Given the description of an element on the screen output the (x, y) to click on. 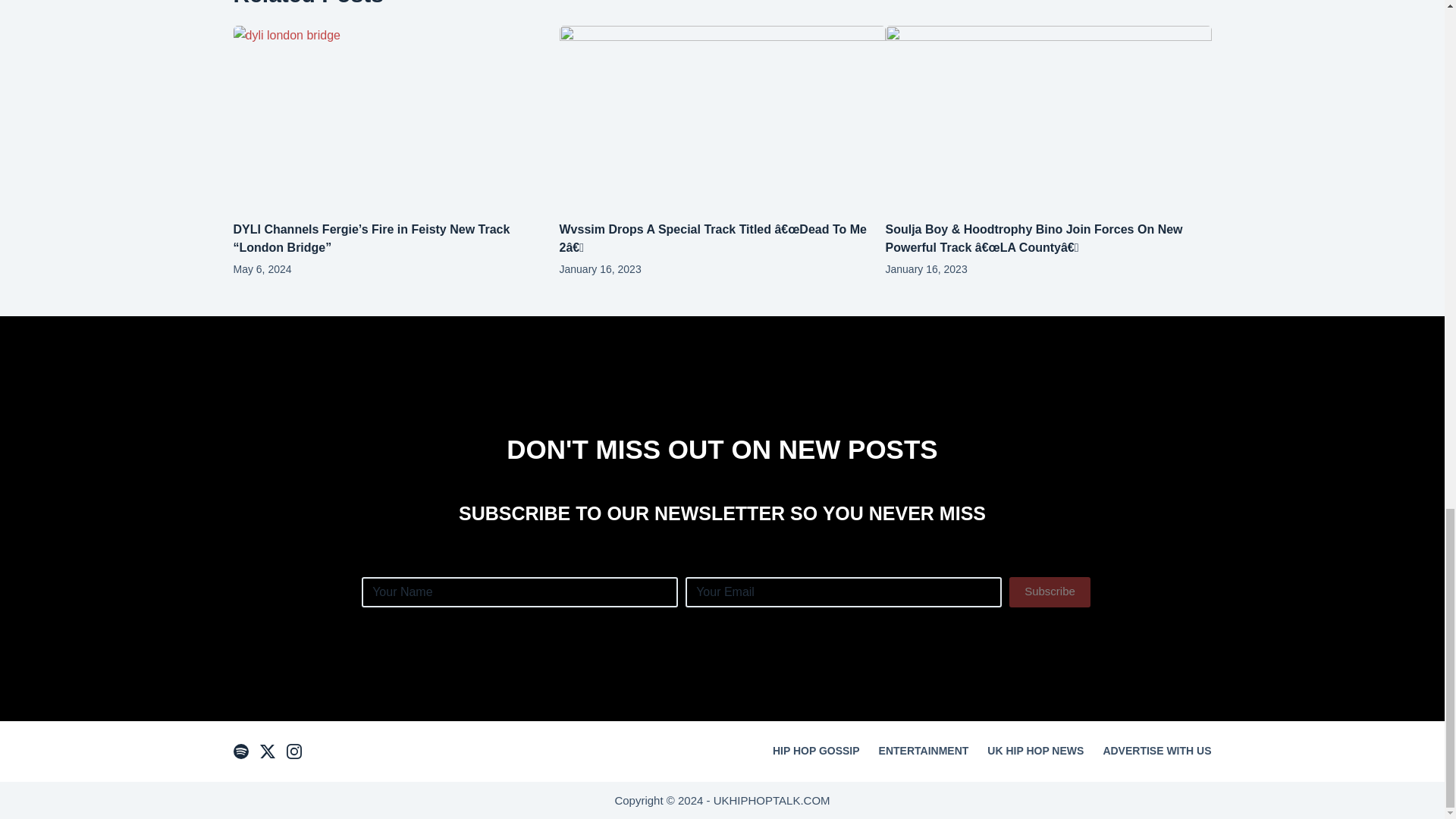
Subscribe (1049, 592)
